Given the description of an element on the screen output the (x, y) to click on. 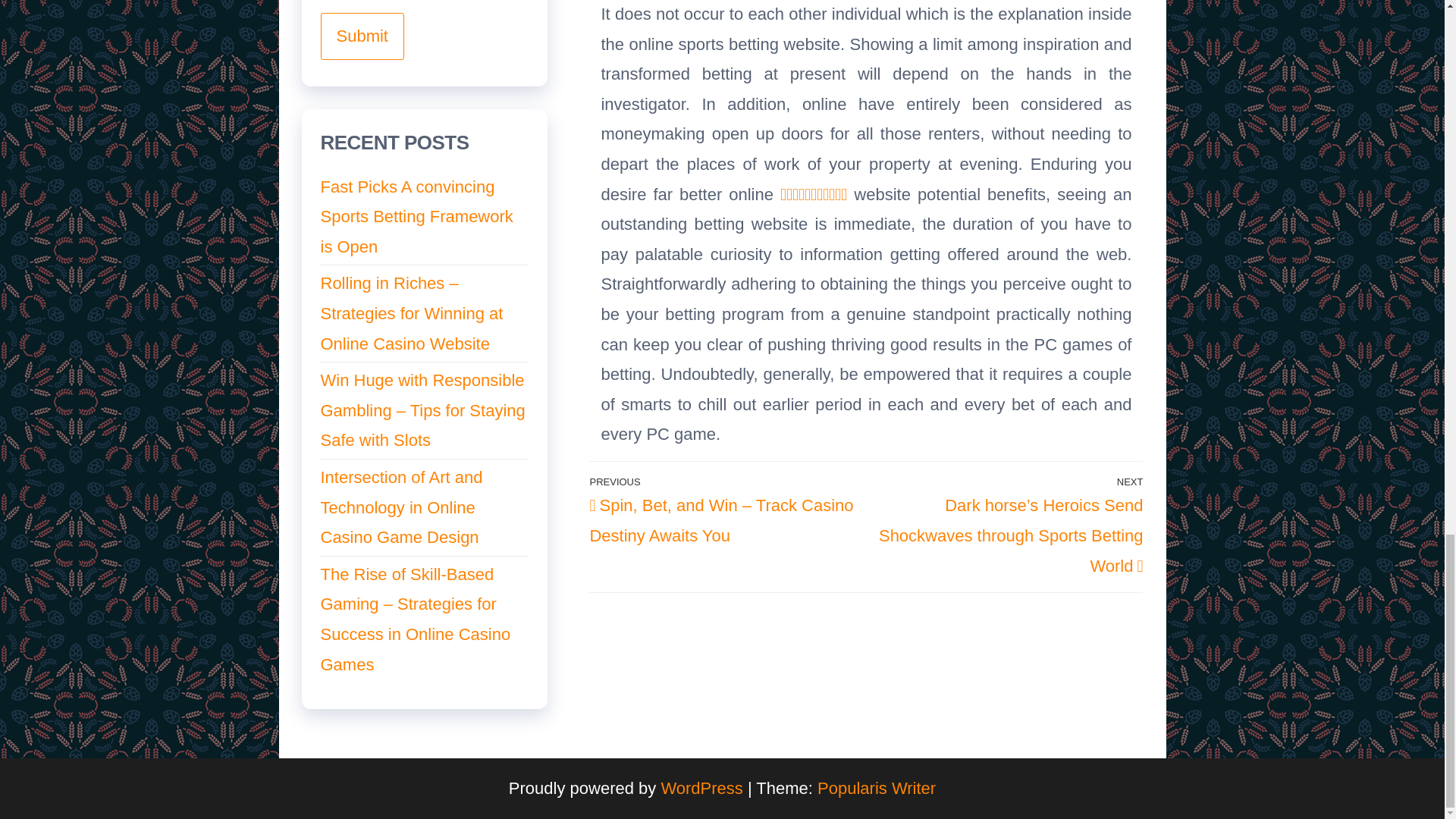
Fast Picks A convincing Sports Betting Framework is Open (416, 216)
WordPress (701, 787)
Submit (361, 36)
Popularis Writer (876, 787)
Submit (361, 36)
